Given the description of an element on the screen output the (x, y) to click on. 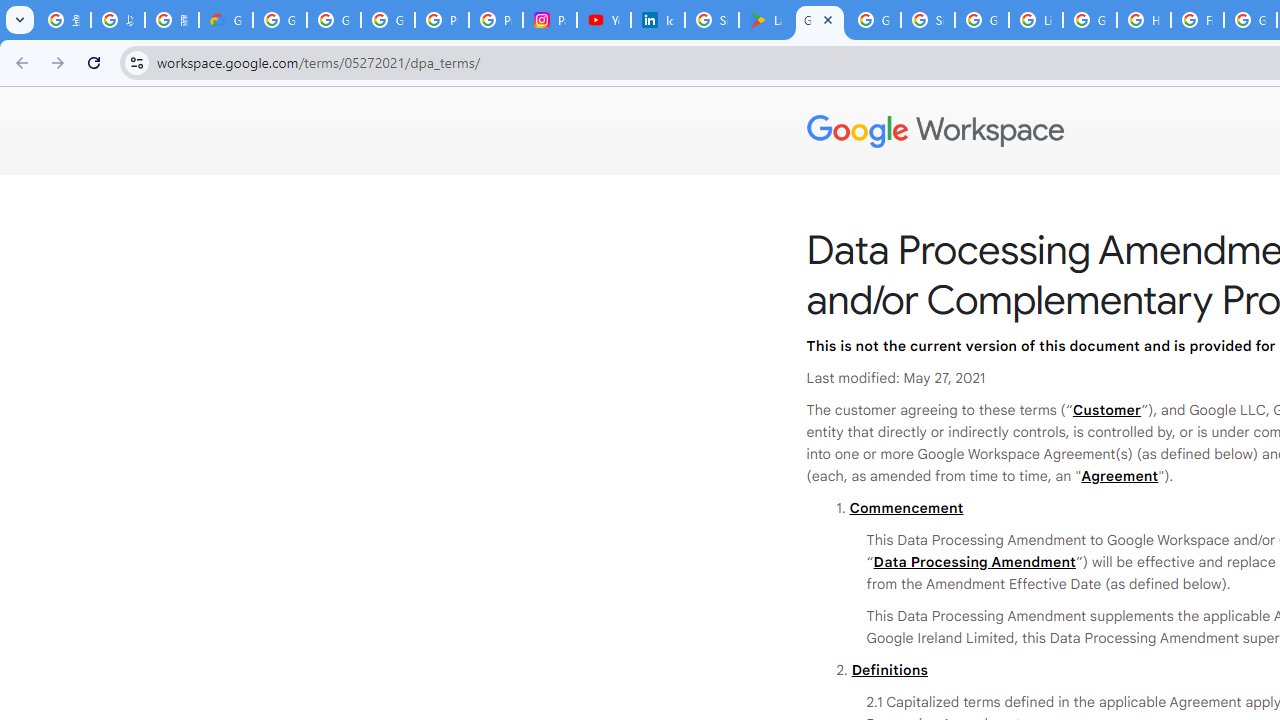
YouTube Culture & Trends - On The Rise: Handcam Videos (604, 20)
How do I create a new Google Account? - Google Account Help (1144, 20)
Privacy Help Center - Policies Help (495, 20)
